Given the description of an element on the screen output the (x, y) to click on. 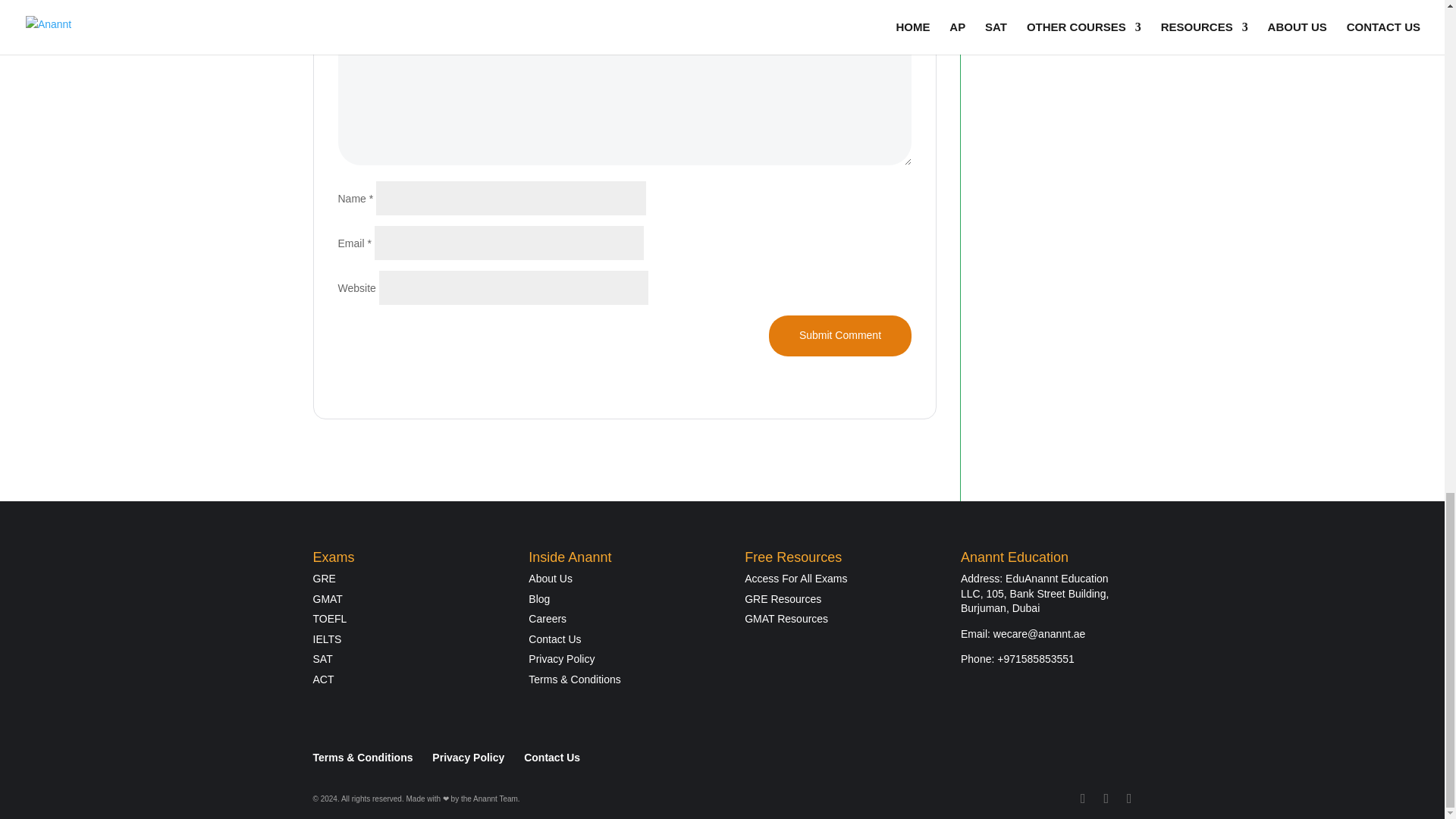
Submit Comment (839, 335)
Submit Comment (839, 335)
